Given the description of an element on the screen output the (x, y) to click on. 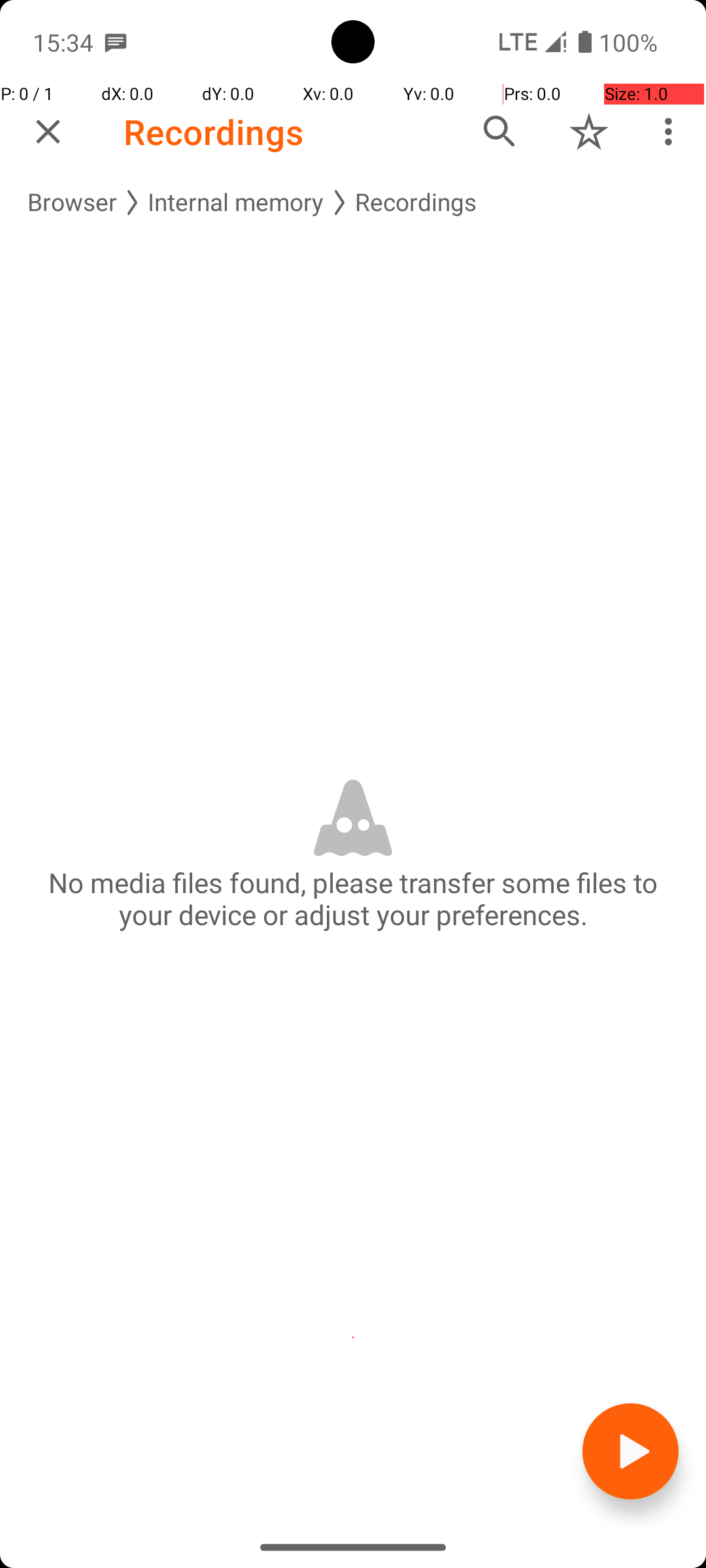
Recordings Element type: android.widget.TextView (213, 131)
